Given the description of an element on the screen output the (x, y) to click on. 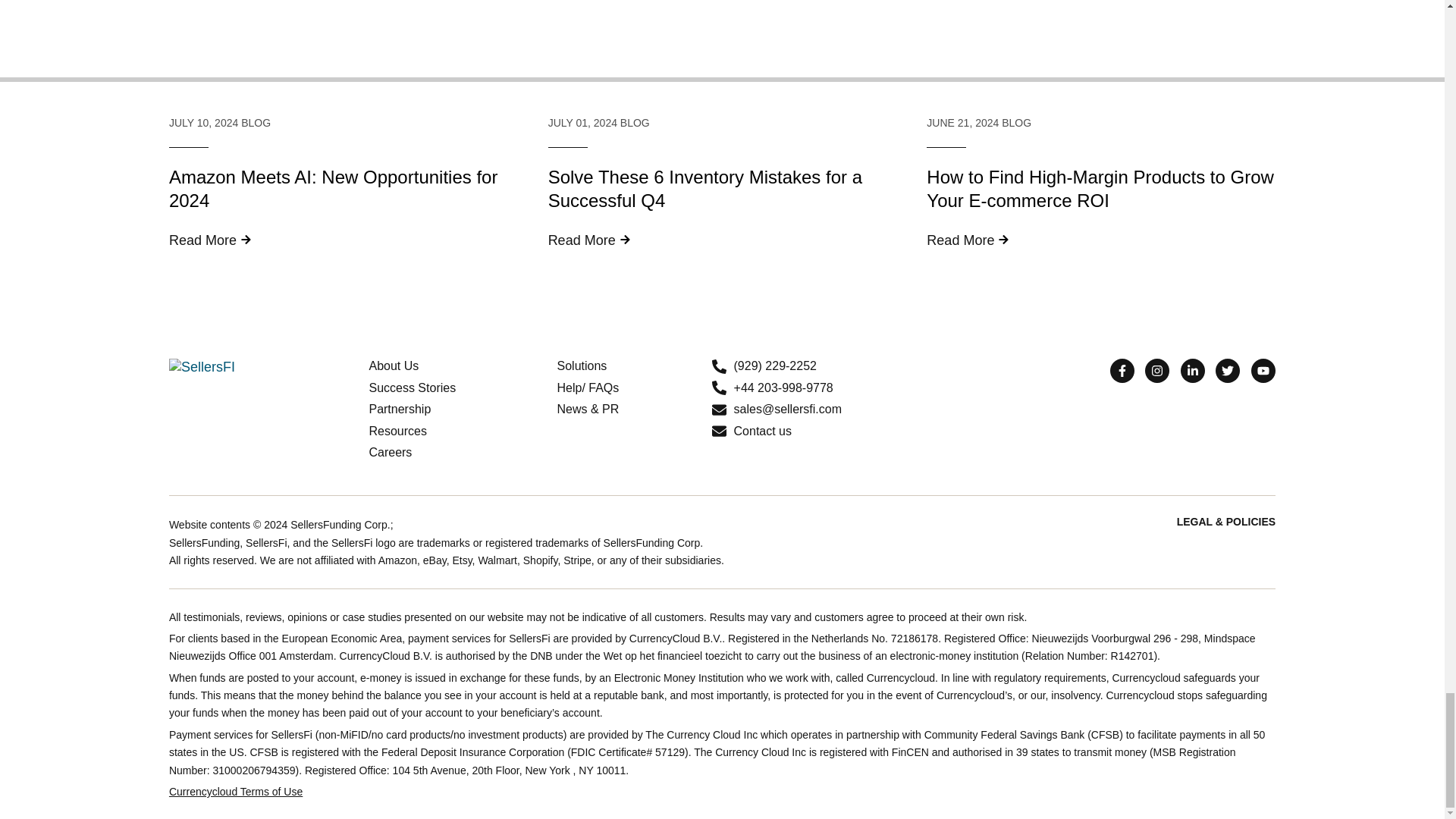
Amazon Meets AI: New Opportunities for 2024 (343, 47)
How to Find High-Margin Products to Grow Your E-commerce ROI (1100, 47)
Solve These 6 Inventory Mistakes for a Successful Q4 (722, 47)
